Given the description of an element on the screen output the (x, y) to click on. 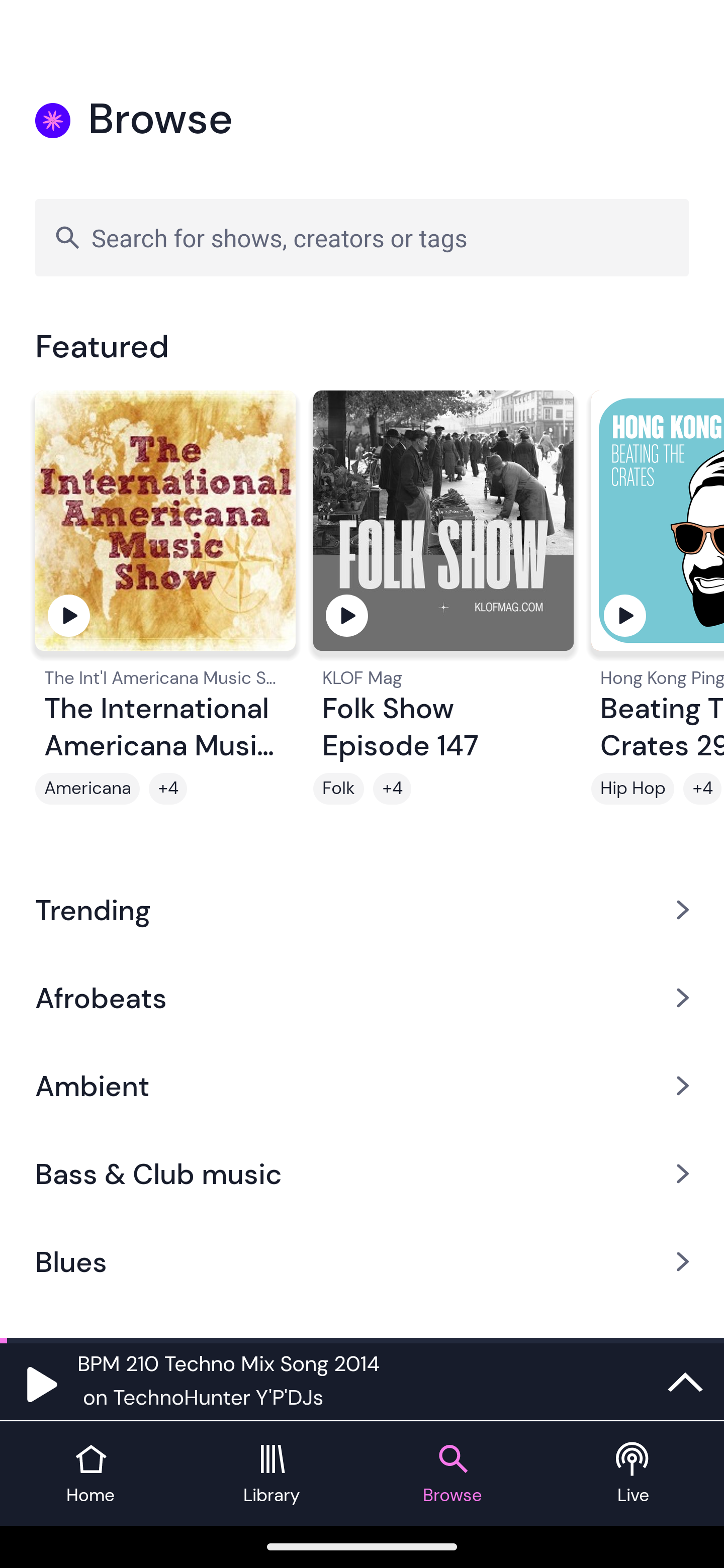
Search for shows, creators or tags (361, 237)
Americana (87, 788)
Folk (338, 788)
Hip Hop (632, 788)
Trending (361, 909)
Afrobeats (361, 997)
Ambient (361, 1085)
Bass & Club music (361, 1174)
Blues (361, 1262)
Home tab Home (90, 1473)
Library tab Library (271, 1473)
Browse tab Browse (452, 1473)
Live tab Live (633, 1473)
